Given the description of an element on the screen output the (x, y) to click on. 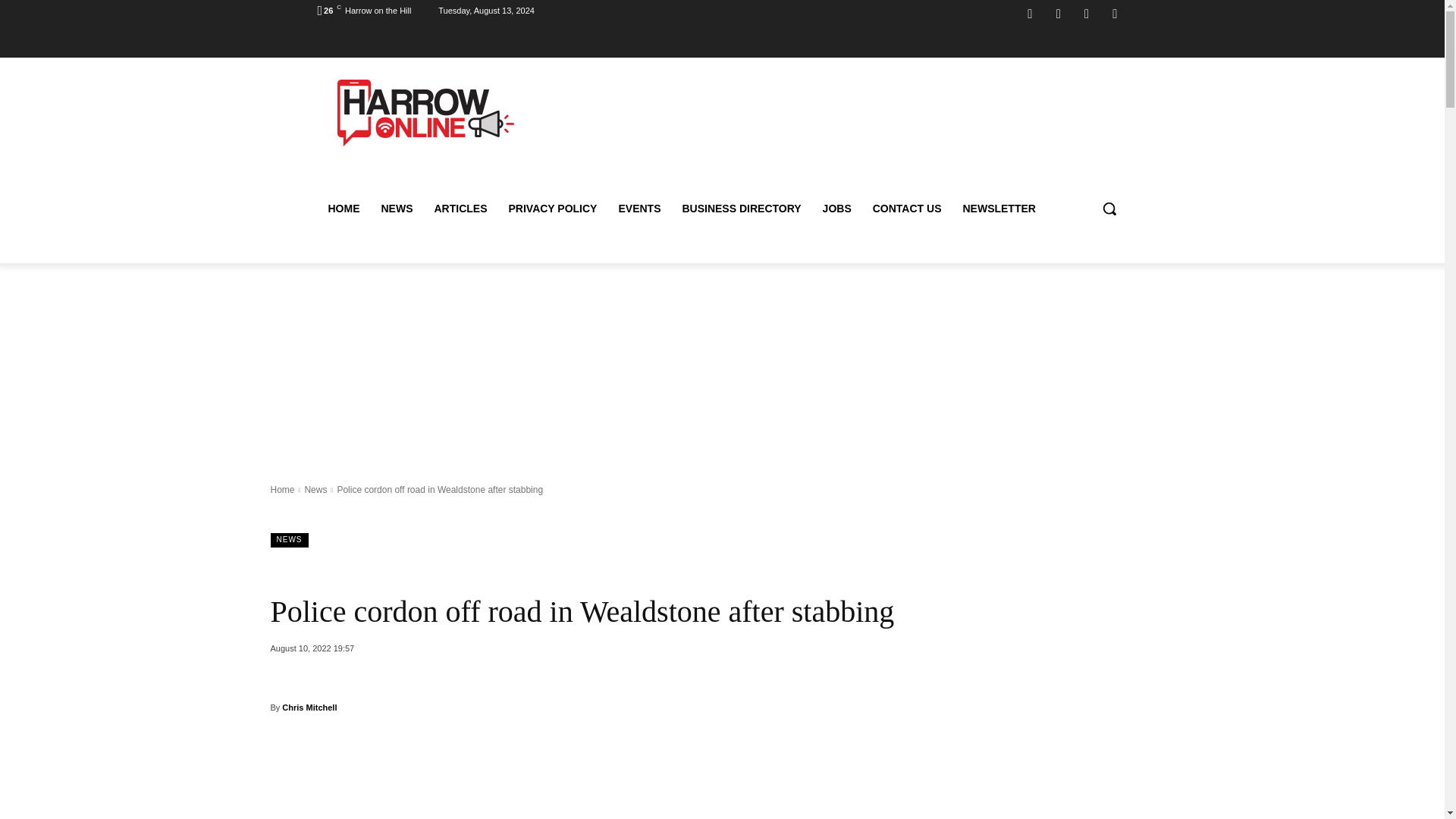
HOME (343, 208)
TikTok (1086, 13)
NEWS (396, 208)
JOBS (836, 208)
CONTACT US (906, 208)
PRIVACY POLICY (552, 208)
Facebook (1029, 13)
EVENTS (639, 208)
NEWSLETTER (998, 208)
ARTICLES (460, 208)
